Given the description of an element on the screen output the (x, y) to click on. 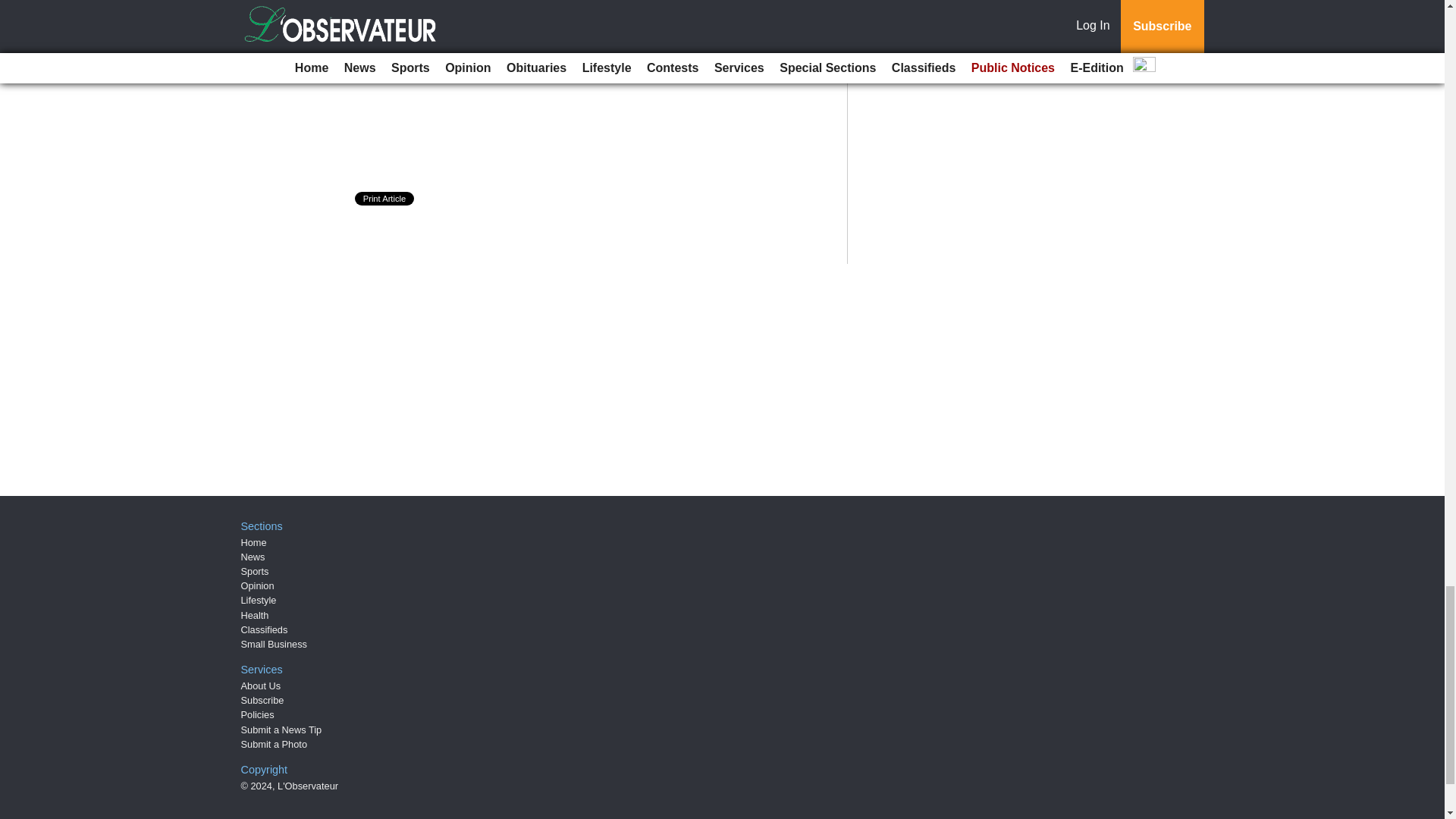
Print Article (384, 198)
